Given the description of an element on the screen output the (x, y) to click on. 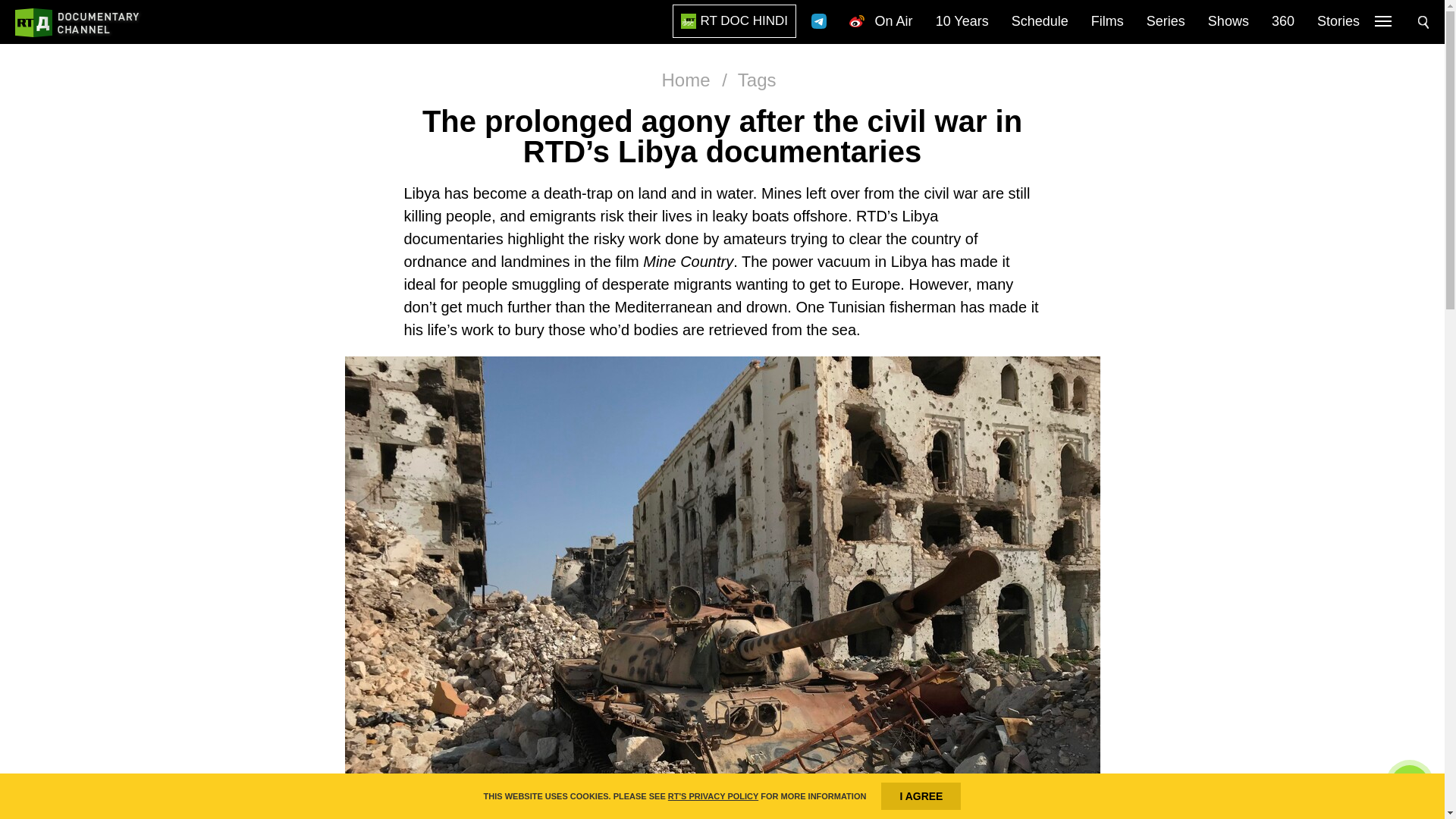
Shows (1228, 22)
Tags (757, 79)
10 Years (962, 22)
Stories (1338, 22)
Home (685, 79)
RT DOC HINDI (734, 20)
Schedule (1039, 22)
